Given the description of an element on the screen output the (x, y) to click on. 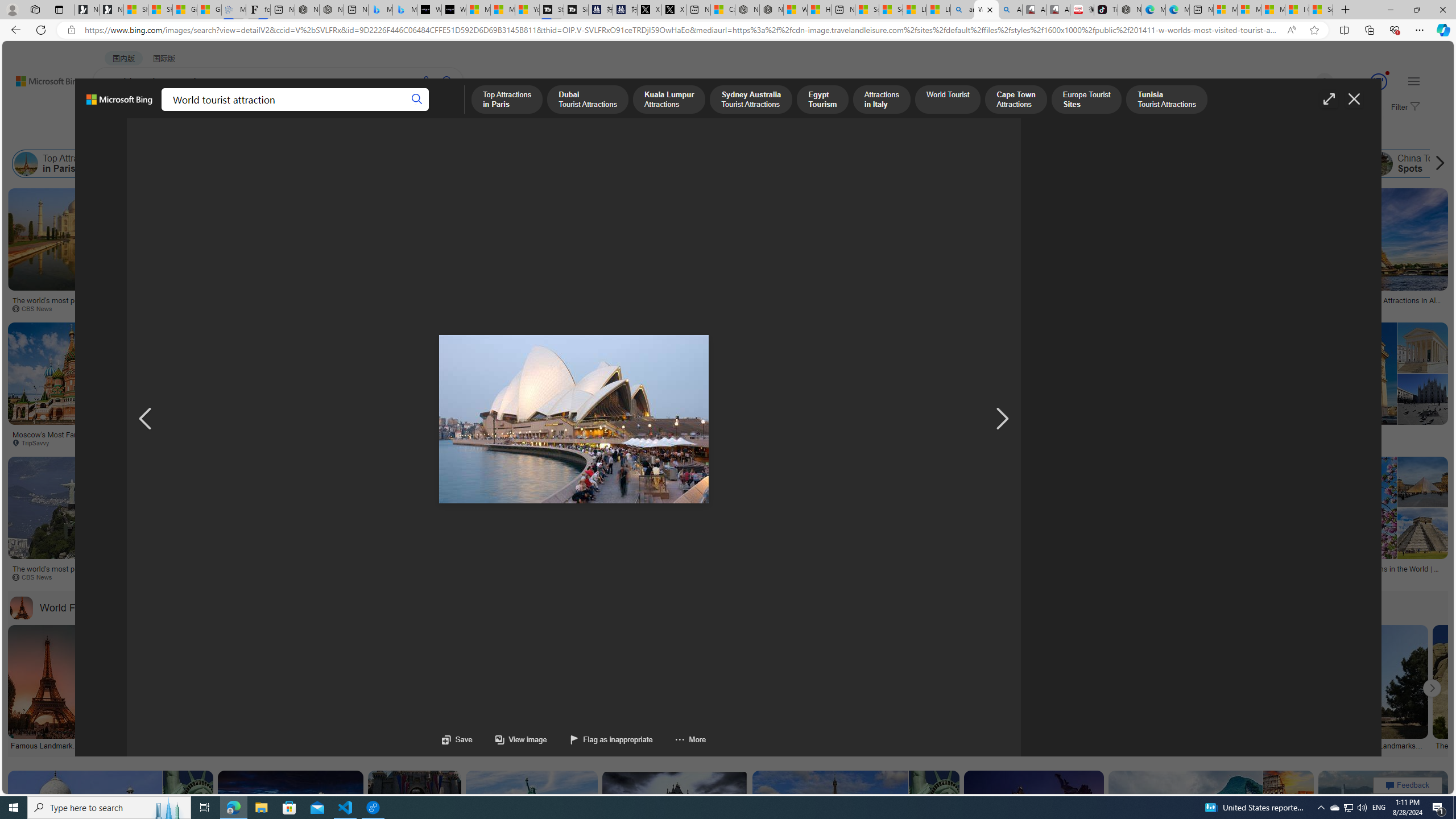
World's most popular tourist attractions - Business Insider (1018, 438)
Filter (1403, 107)
andiamo.co.uk (222, 576)
mehndidesign.zohal.cc (484, 442)
Microsoft account | Privacy (1248, 9)
Famous Tourist Spot In France (1352, 434)
Search button (417, 99)
AutomationID: navl (145, 418)
View image (521, 739)
France Best Places (1249, 163)
Top 10 Tourist Attractions in the World (1101, 163)
